Given the description of an element on the screen output the (x, y) to click on. 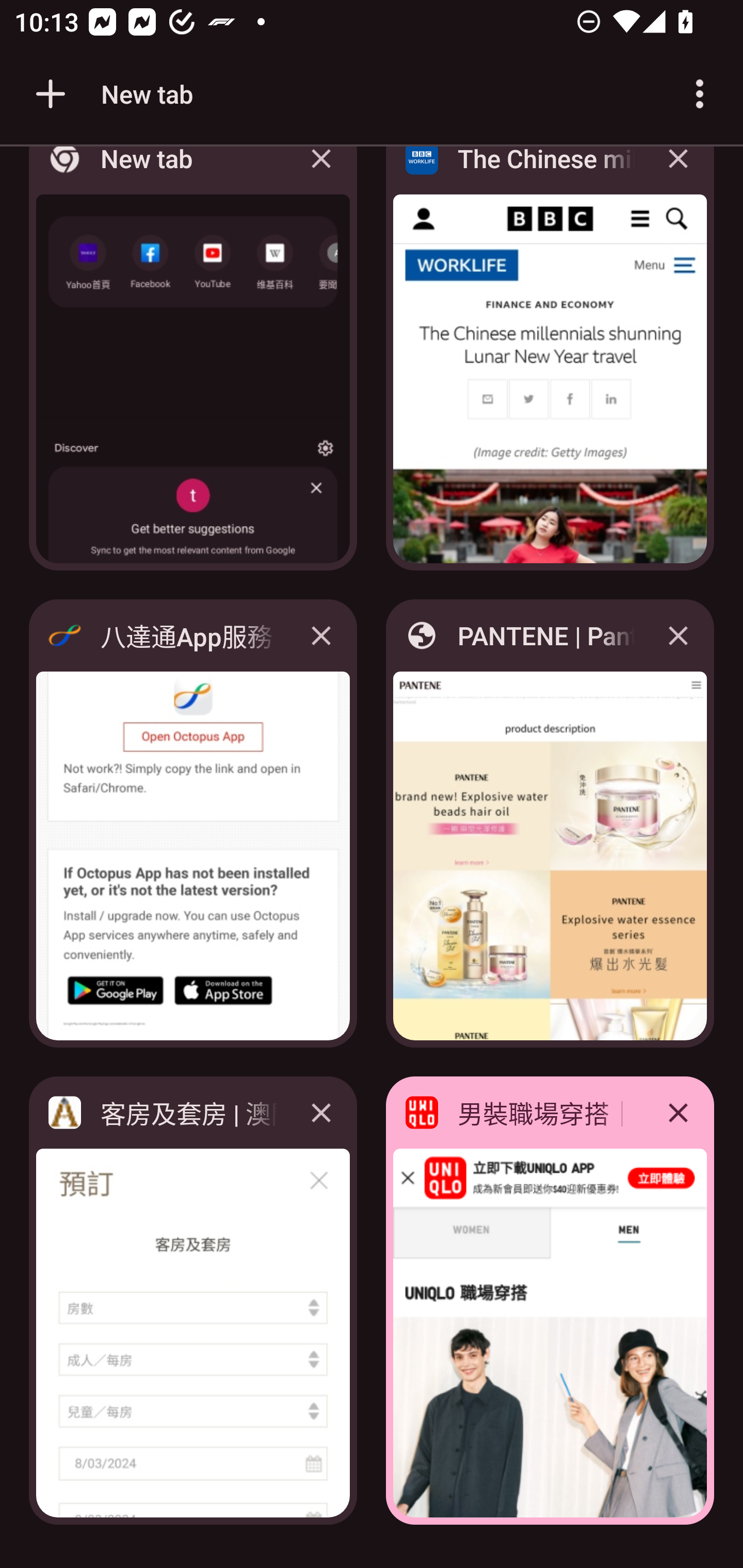
New tab (111, 93)
Customize and control Google Chrome (699, 93)
New tab New tab, tab Close New tab tab (192, 364)
Close New tab tab (320, 173)
Close 八達通App服務 - 香港八達通 tab (320, 635)
Close PANTENE | Pantene tab (677, 635)
Close 客房及套房 | 澳門新濠鋒 tab (320, 1112)
Close 男裝職場穿搭｜舒適無憂 一套顯專業-UNIQLO官方網絡旗艦店 tab (677, 1112)
